Given the description of an element on the screen output the (x, y) to click on. 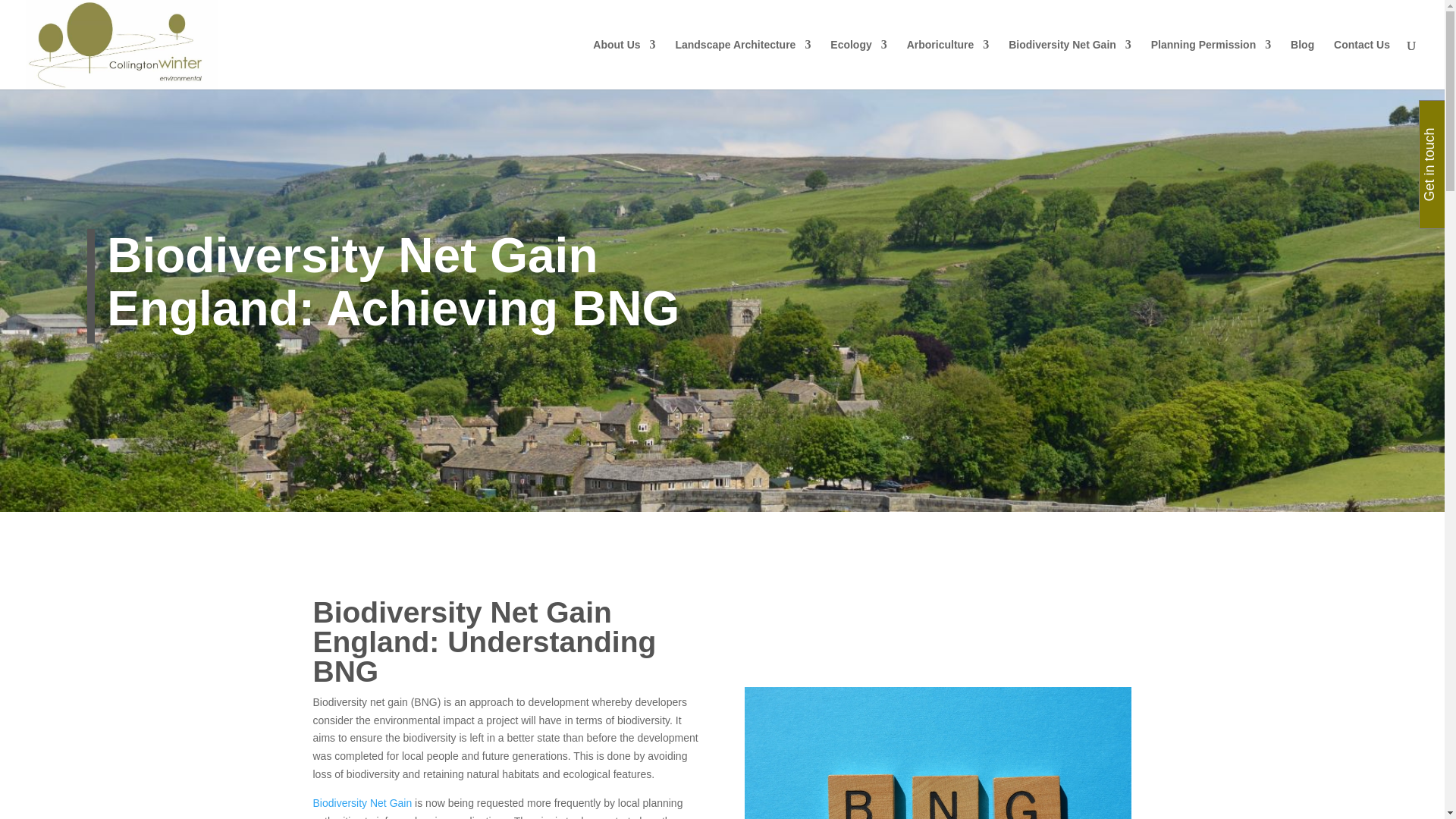
Ecology (857, 64)
Planning Permission (1211, 64)
Biodiversity Net Gain (1070, 64)
Landscape Architecture (742, 64)
Arboriculture (948, 64)
About Us (623, 64)
